Given the description of an element on the screen output the (x, y) to click on. 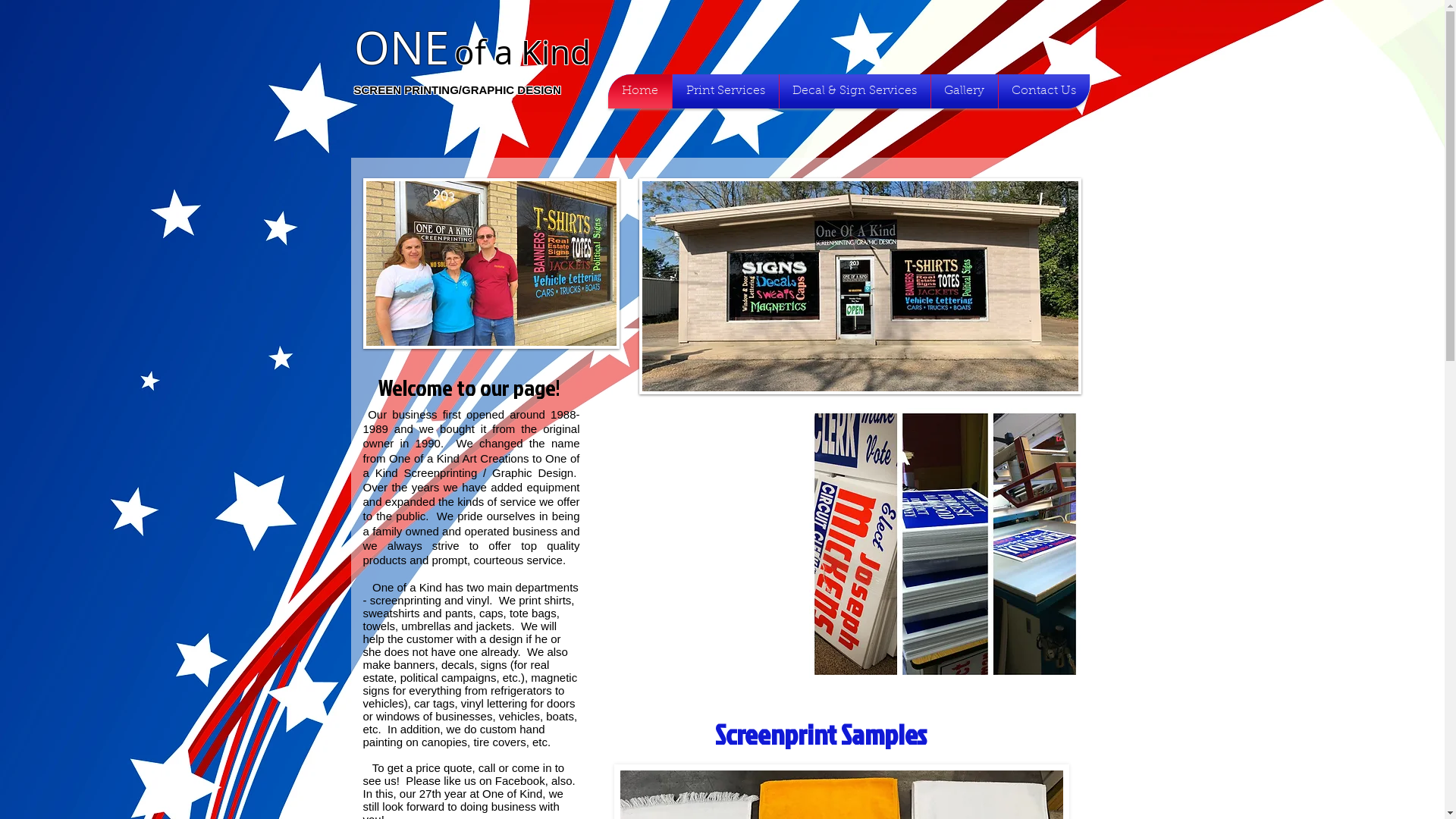
17105783_10155854197735898_661341799_o_edited_edited.jpg Element type: hover (490, 263)
Print Services Element type: text (724, 91)
Home Element type: text (639, 91)
Contact Us Element type: text (1042, 91)
Gallery Element type: text (964, 91)
of a Kind Element type: text (521, 51)
Decal & Sign Services Element type: text (854, 91)
IMG_2524-2.jpg Element type: hover (859, 286)
ONE Element type: text (400, 46)
